Given the description of an element on the screen output the (x, y) to click on. 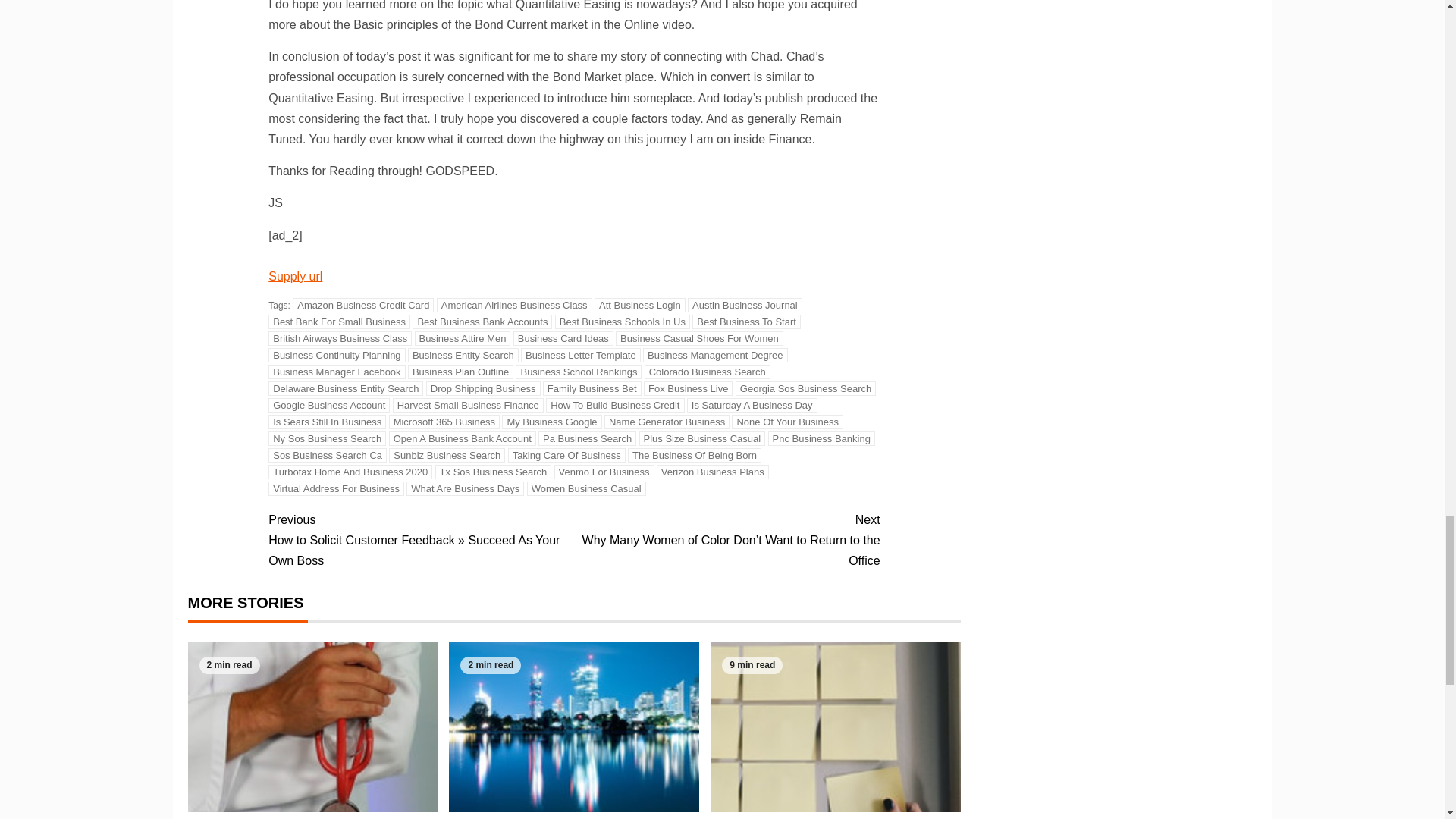
Att Business Login (639, 305)
Supply url (294, 276)
The Role of Accountability in Classroom Management (573, 726)
American Airlines Business Class (514, 305)
Austin Business Journal (744, 305)
Amazon Business Credit Card (362, 305)
